Given the description of an element on the screen output the (x, y) to click on. 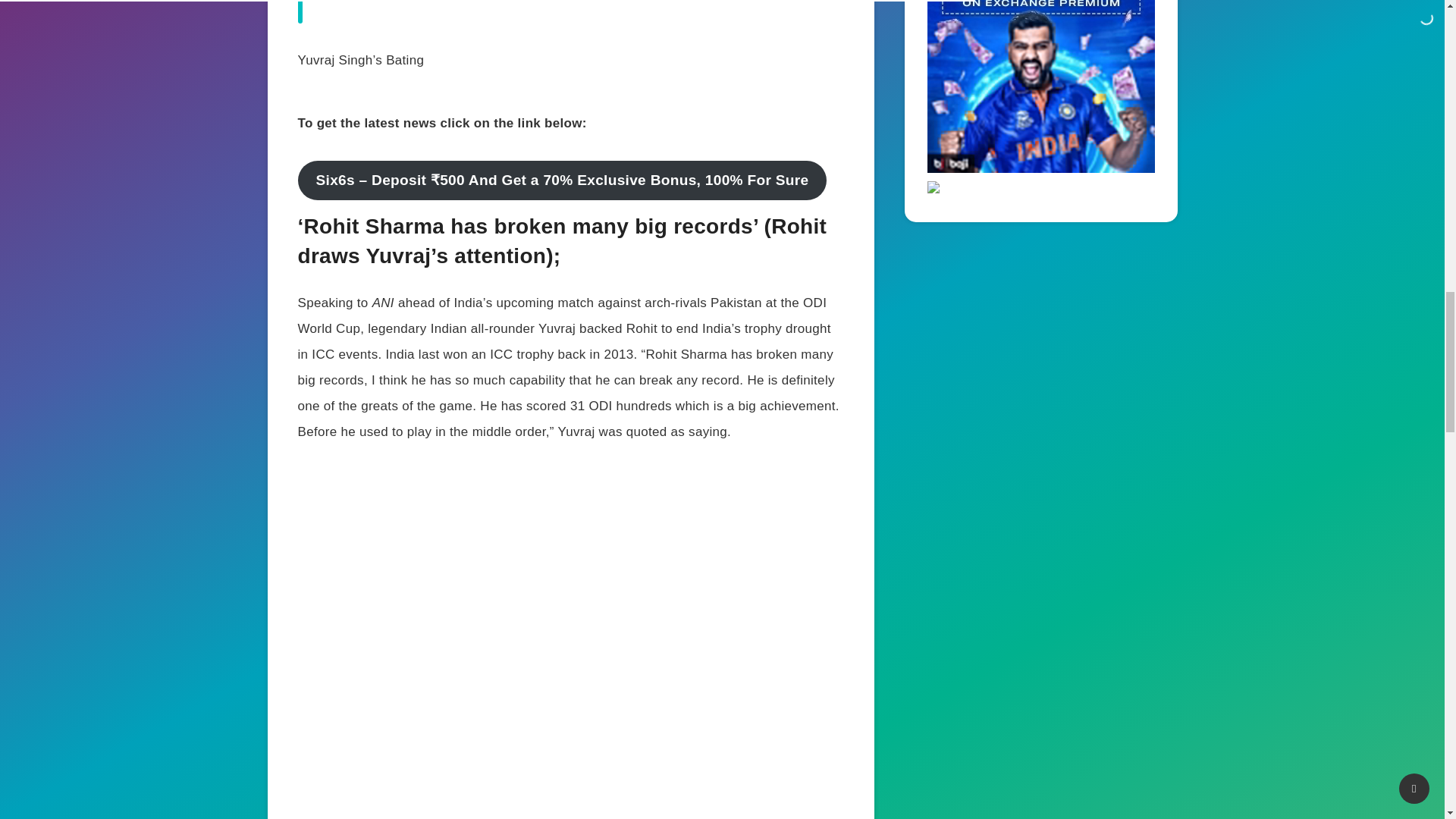
October 7, 2023 (592, 1)
